Given the description of an element on the screen output the (x, y) to click on. 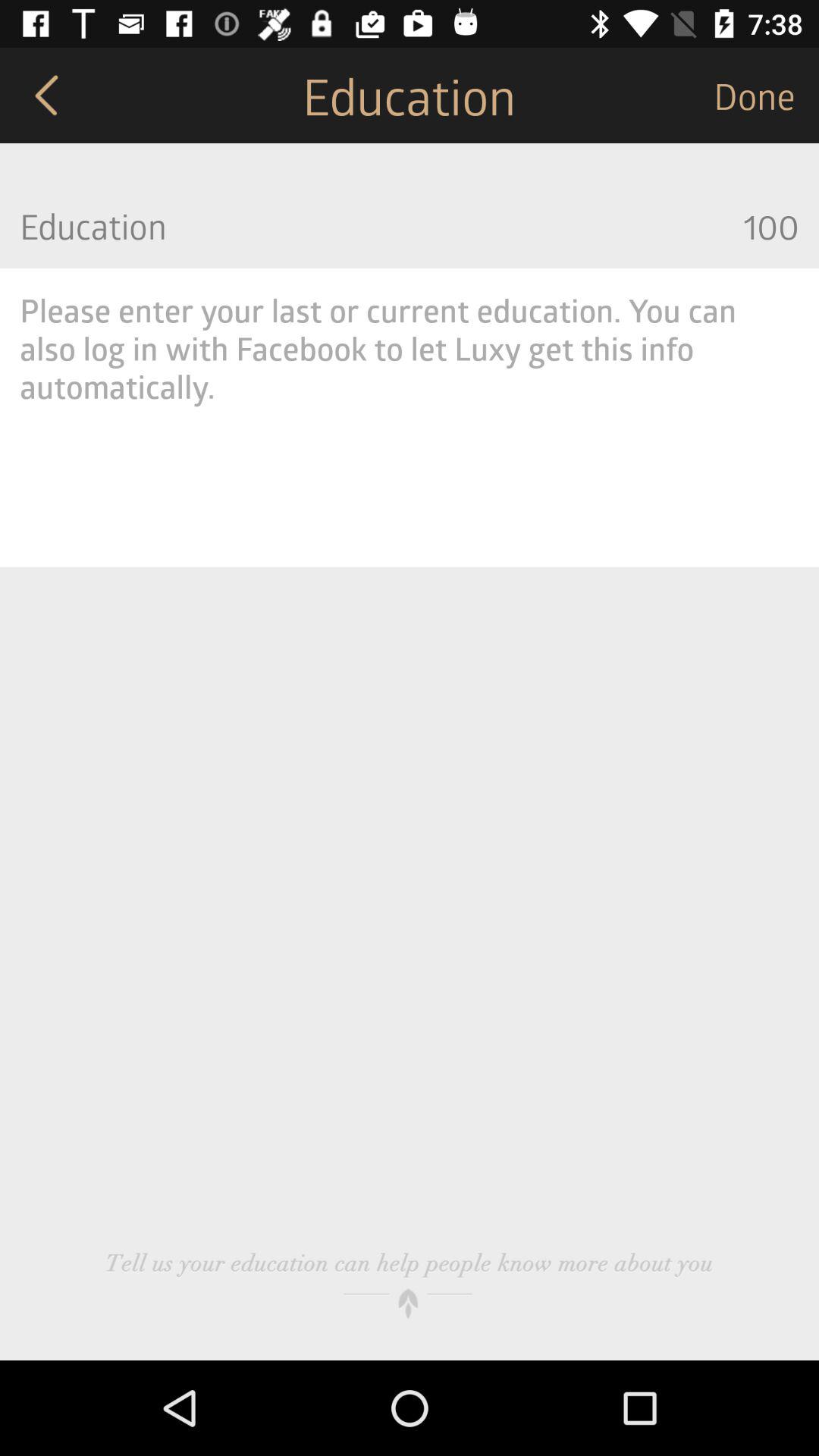
launch icon to the right of the education item (766, 95)
